Given the description of an element on the screen output the (x, y) to click on. 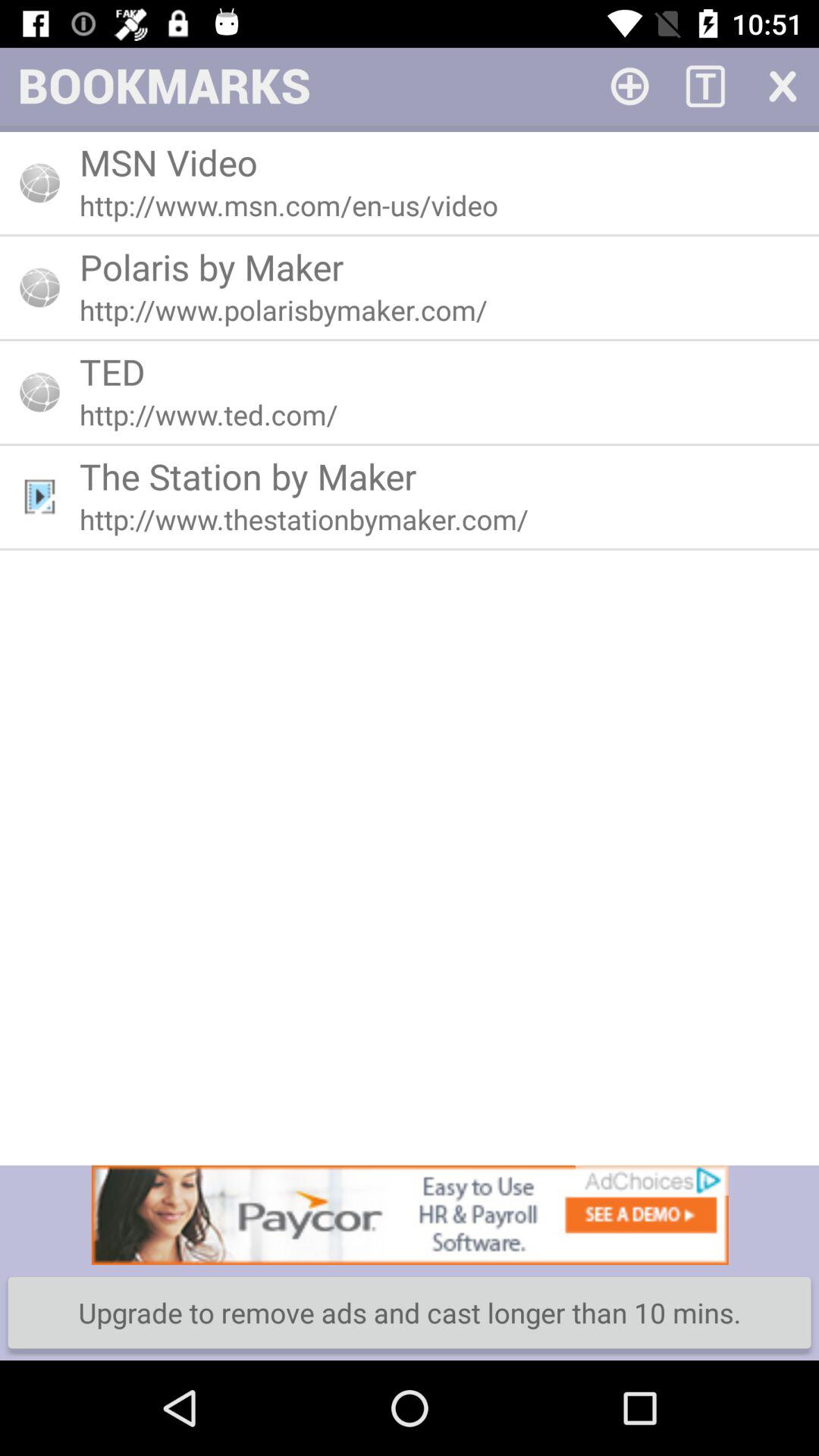
close (781, 85)
